Given the description of an element on the screen output the (x, y) to click on. 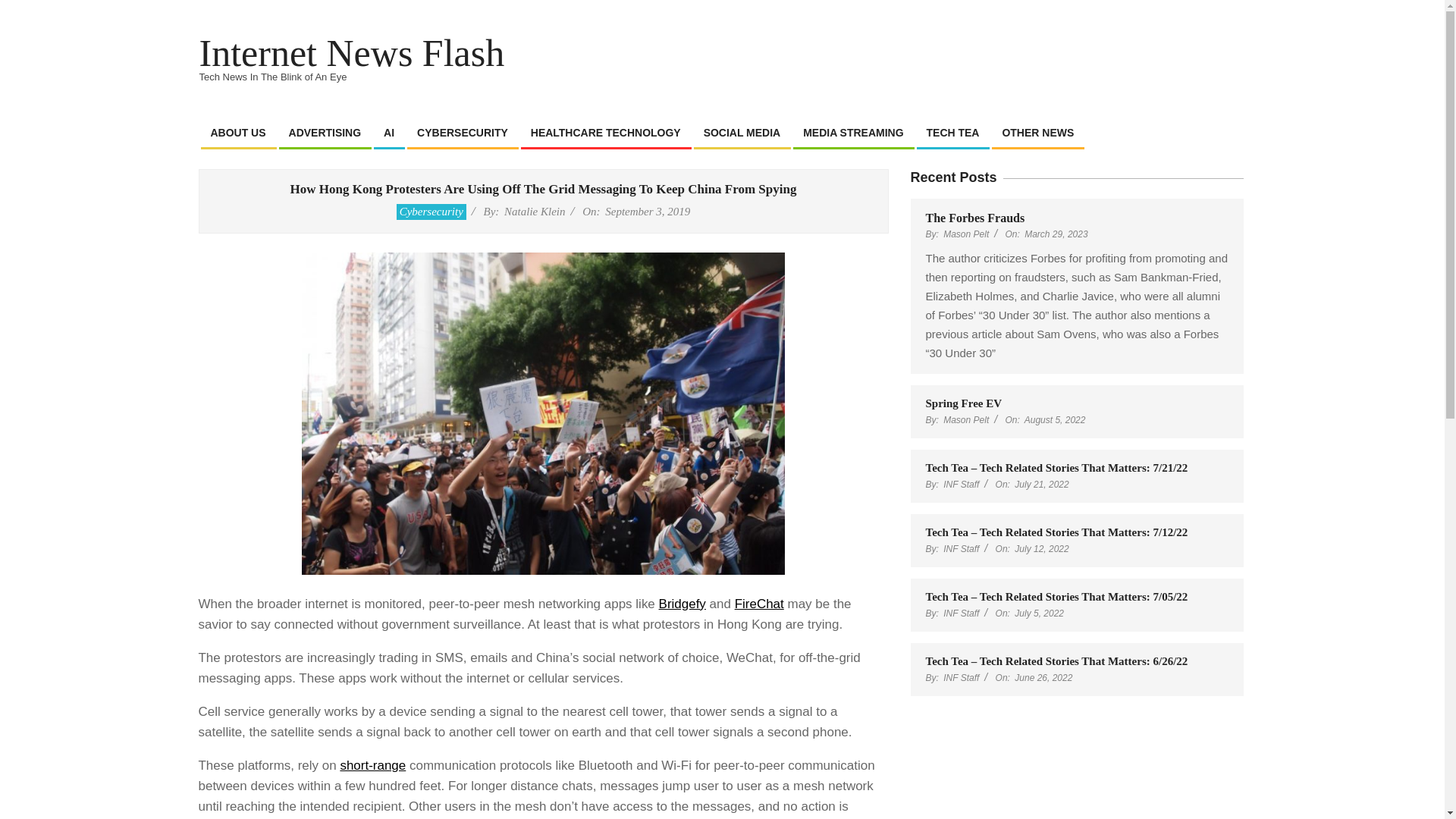
INF Staff (960, 548)
short-range (372, 765)
AI (389, 133)
Posts by INF Staff (960, 484)
ADVERTISING (325, 133)
MEDIA STREAMING (853, 133)
Tuesday, July 12, 2022, 1:15 pm (1041, 548)
Posts by INF Staff (960, 548)
Bridgefy (682, 603)
OTHER NEWS (1037, 133)
ABOUT US (237, 133)
TECH TEA (953, 133)
FireChat (759, 603)
The Forbes Frauds (974, 217)
Friday, August 5, 2022, 3:44 pm (1055, 419)
